Given the description of an element on the screen output the (x, y) to click on. 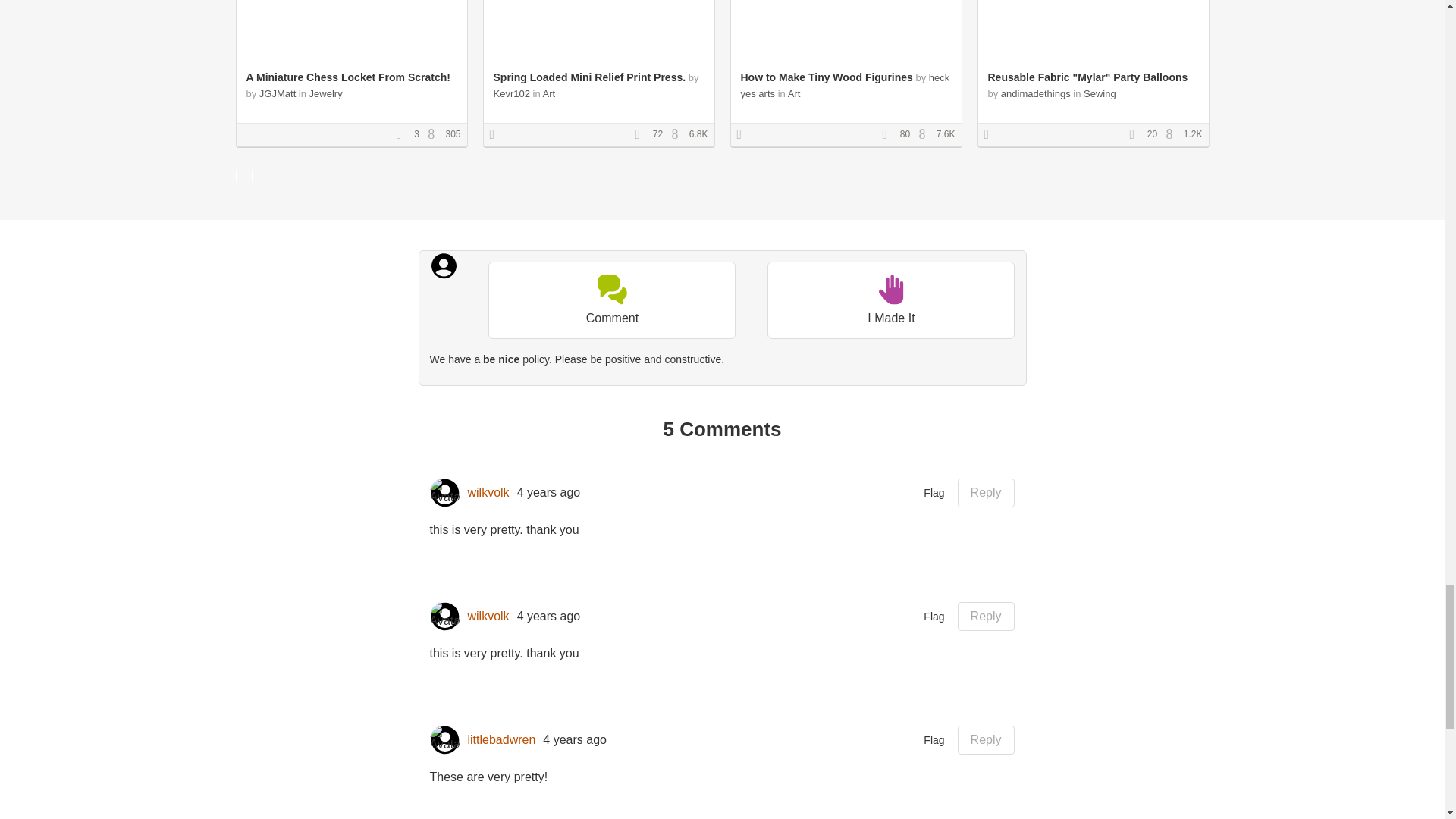
Contest Winner (744, 134)
Views Count (678, 134)
2020-09-03 12:58:35.0 (548, 616)
Art (549, 93)
JGJMatt (277, 93)
Favorites Count (1136, 134)
Contest Winner (991, 134)
Jewelry (325, 93)
2020-09-01 08:05:16.0 (575, 739)
Views Count (1173, 134)
A Miniature Chess Locket From Scratch! (347, 77)
Contest Winner (497, 134)
Favorites Count (889, 134)
Views Count (925, 134)
Views Count (435, 134)
